Given the description of an element on the screen output the (x, y) to click on. 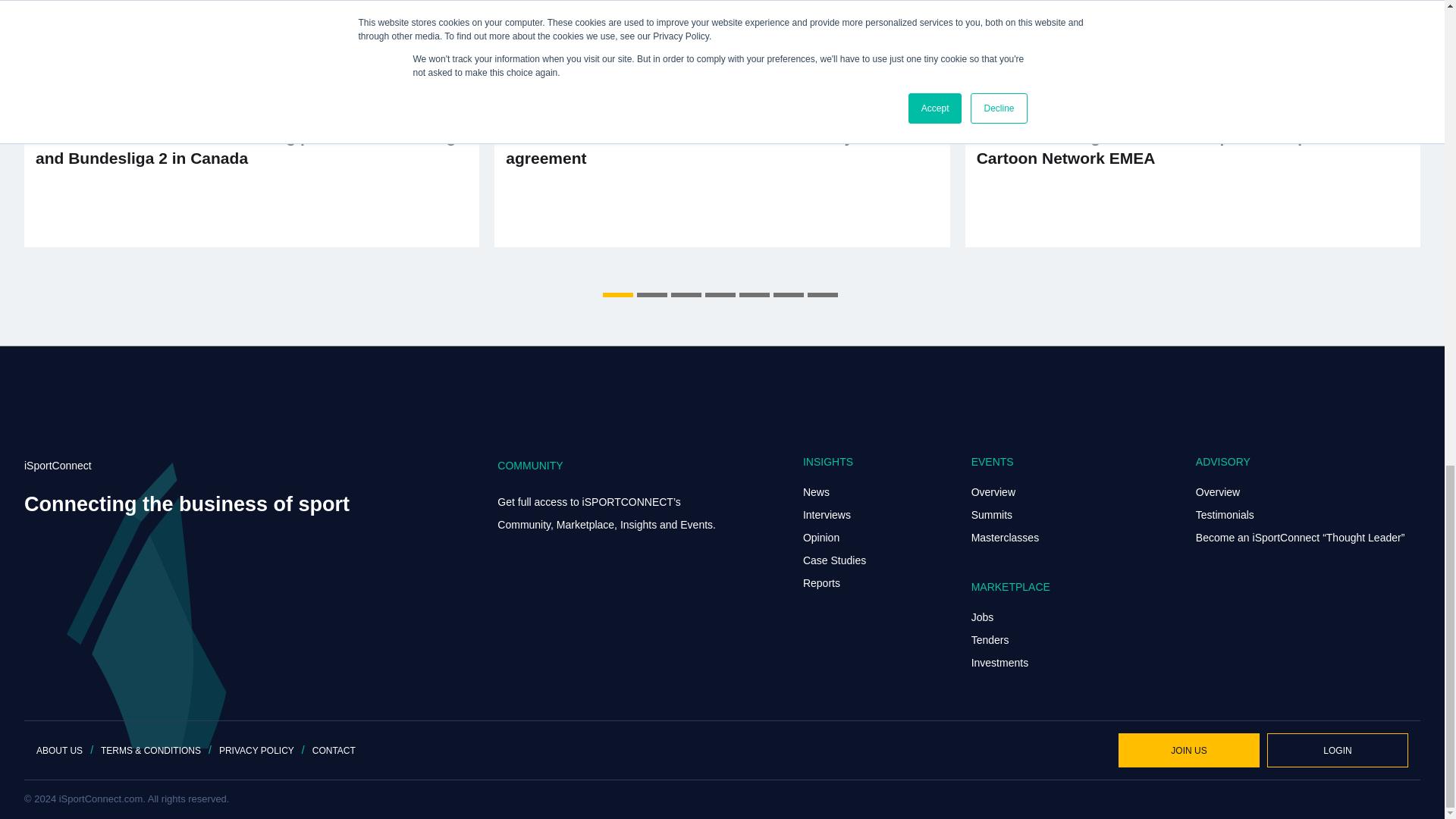
Scottish FA and Scottish Gas announce five-year agreement (722, 123)
